Given the description of an element on the screen output the (x, y) to click on. 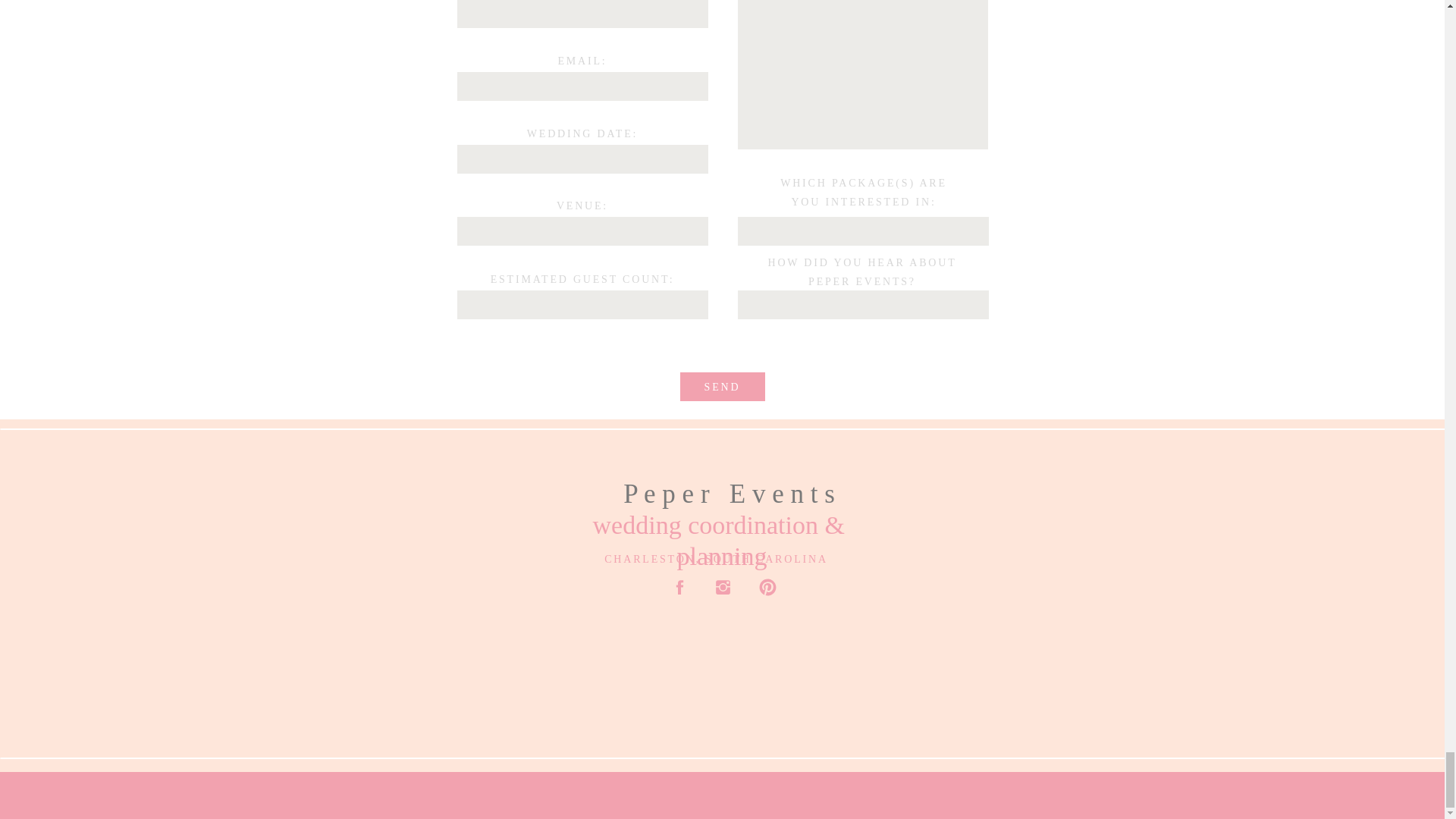
CHARLESTON, SOUTH CAROLINA (716, 561)
SEND (721, 387)
